Given the description of an element on the screen output the (x, y) to click on. 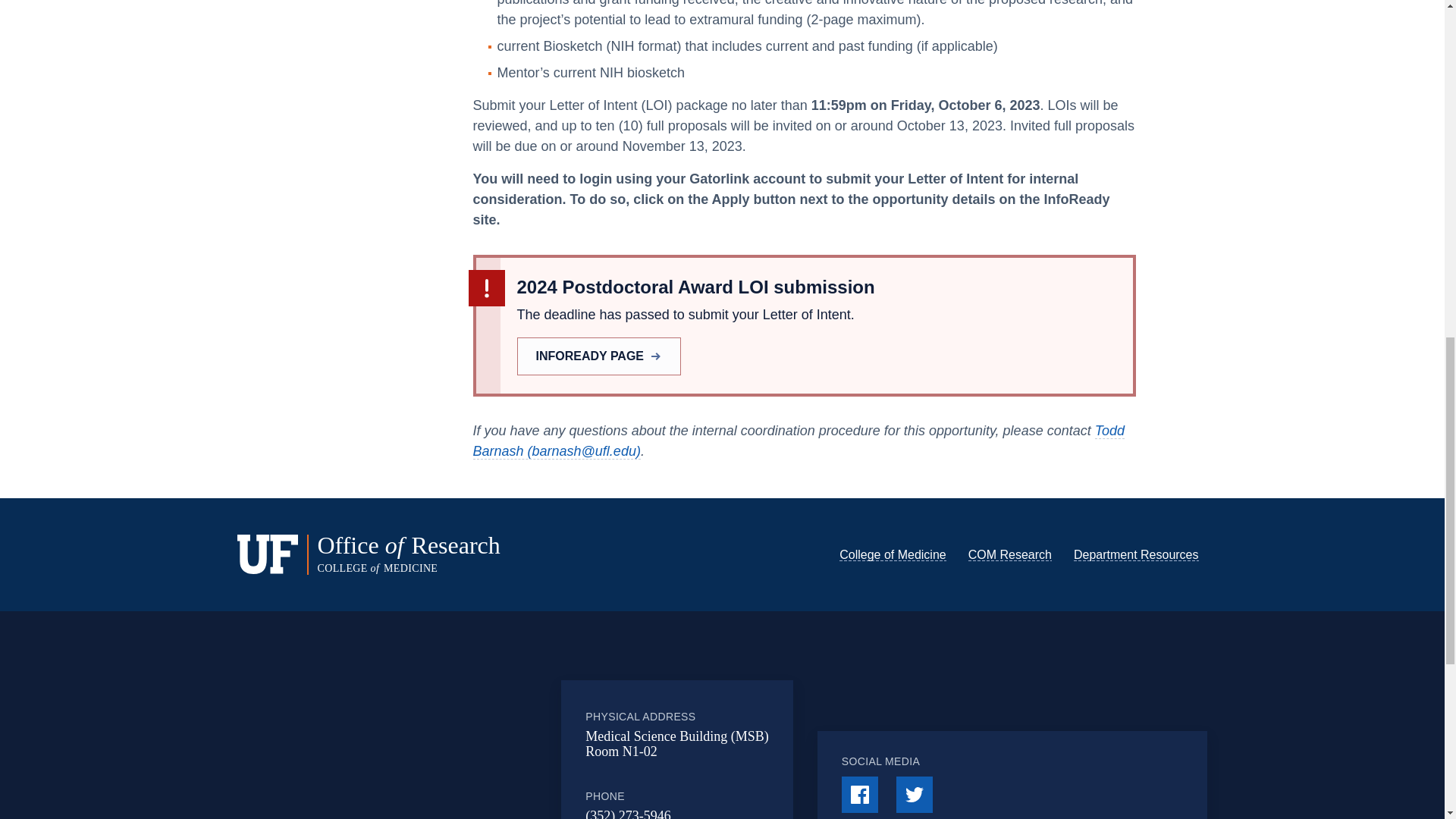
College of Medicine (893, 554)
COM Research (1009, 554)
Google Maps Embed (446, 739)
Department Resources (1136, 554)
